Given the description of an element on the screen output the (x, y) to click on. 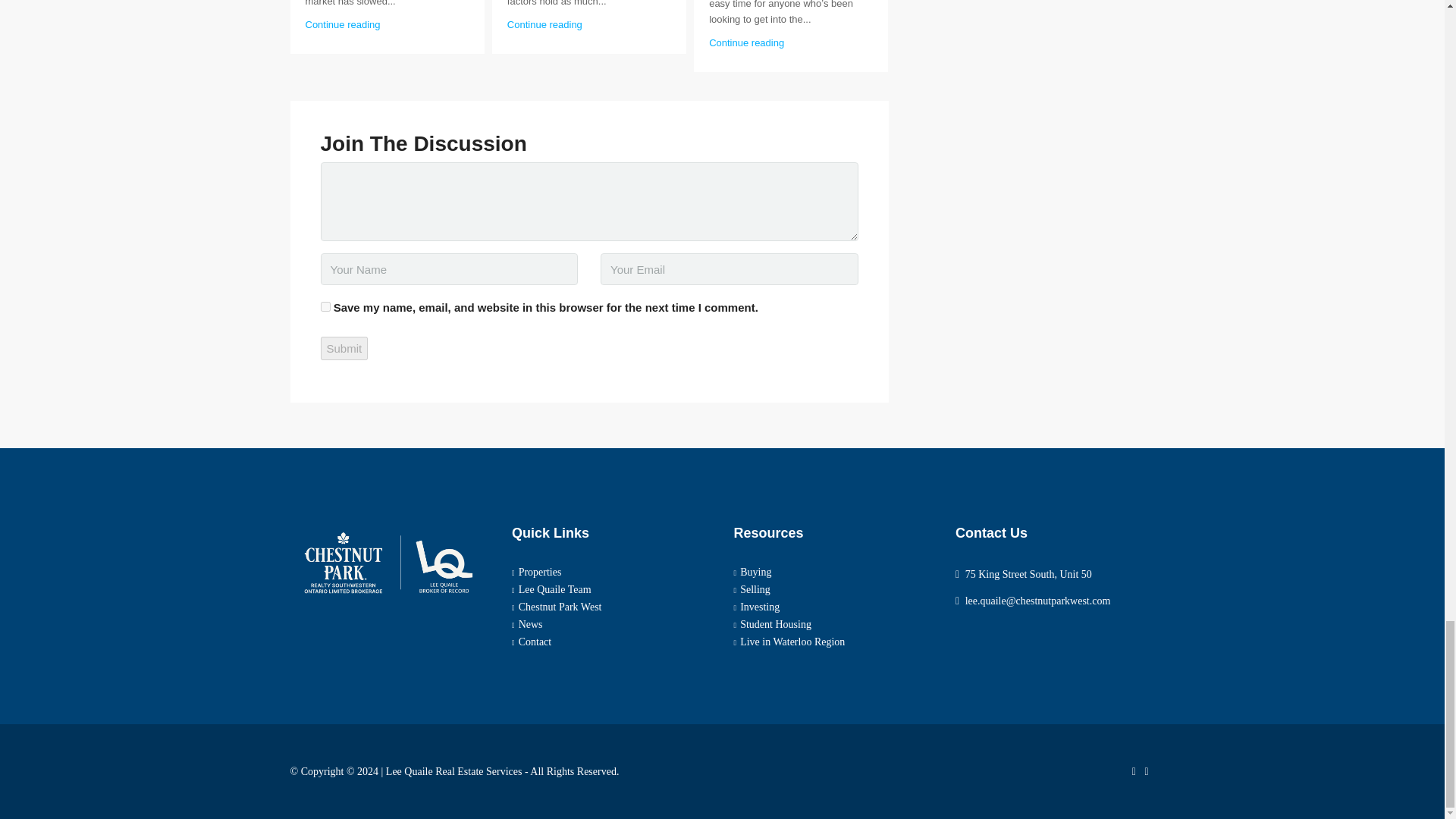
Submit (344, 348)
yes (325, 307)
